Given the description of an element on the screen output the (x, y) to click on. 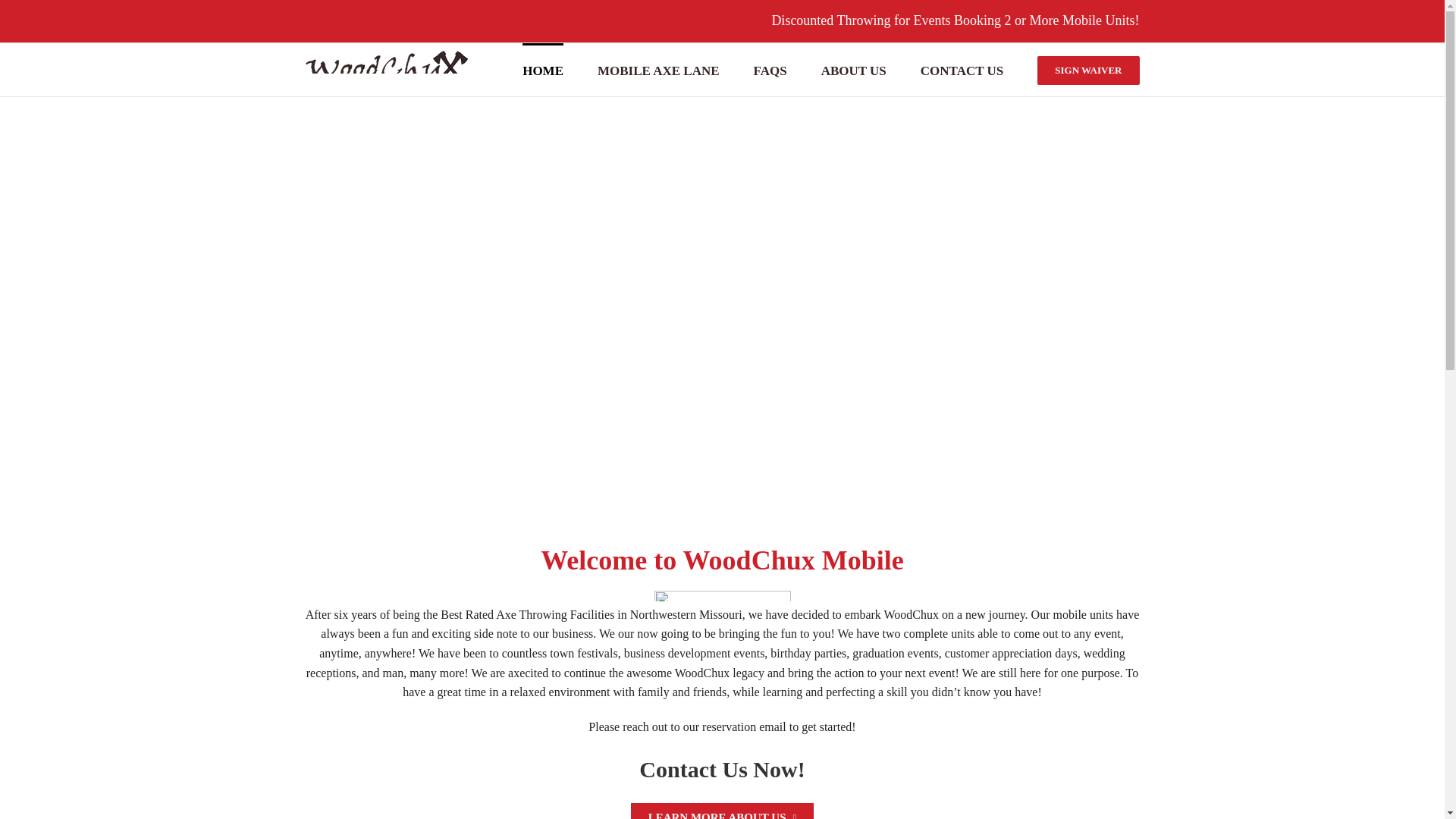
MOBILE AXE LANE (657, 69)
SIGN WAIVER (1087, 69)
CONTACT US (961, 69)
separators (721, 595)
Contact Us Now! (722, 769)
ABOUT US (853, 69)
LEARN MORE ABOUT US (721, 811)
